Given the description of an element on the screen output the (x, y) to click on. 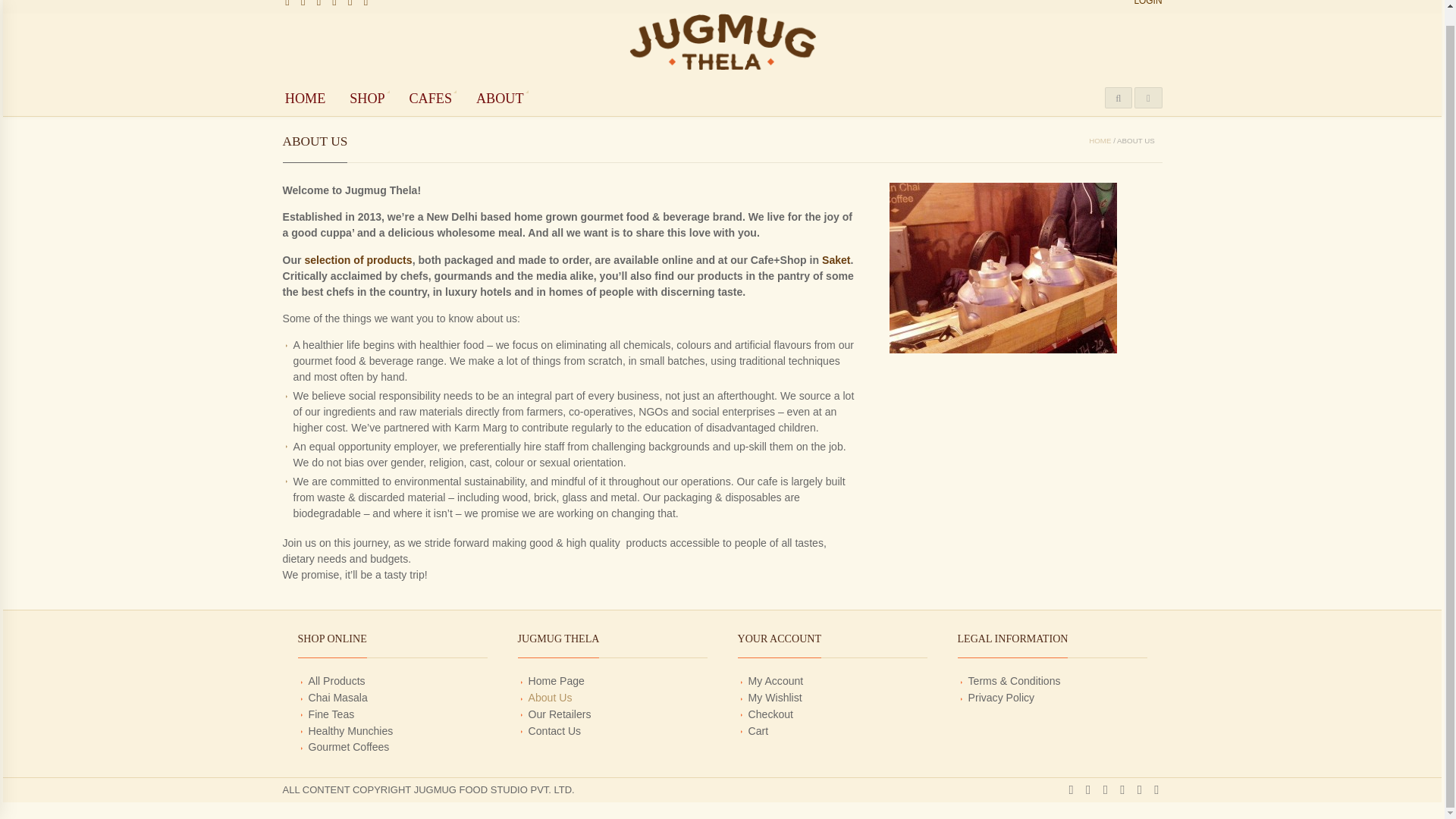
HOME (1099, 140)
LOGIN (1147, 6)
ABOUT (499, 98)
CAFES (430, 98)
HOME (305, 98)
SHOP (367, 98)
